Given the description of an element on the screen output the (x, y) to click on. 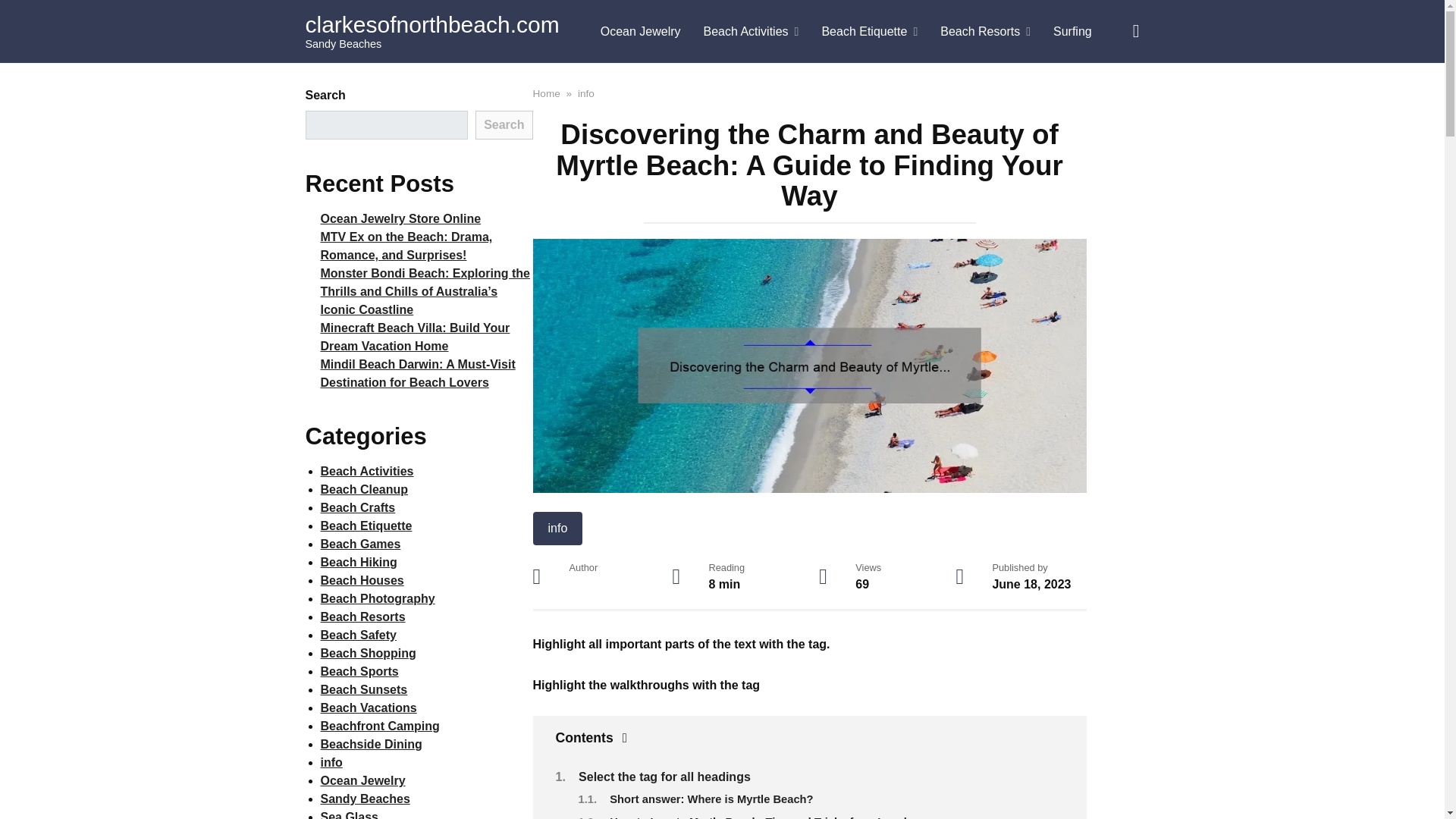
Beach Activities (751, 31)
Ocean Jewelry (641, 31)
info (586, 93)
Beach Etiquette (868, 31)
Short answer: Where is Myrtle Beach? (711, 799)
clarkesofnorthbeach.com (431, 24)
Surfing (1072, 31)
Home (545, 93)
Beach Resorts (985, 31)
